Given the description of an element on the screen output the (x, y) to click on. 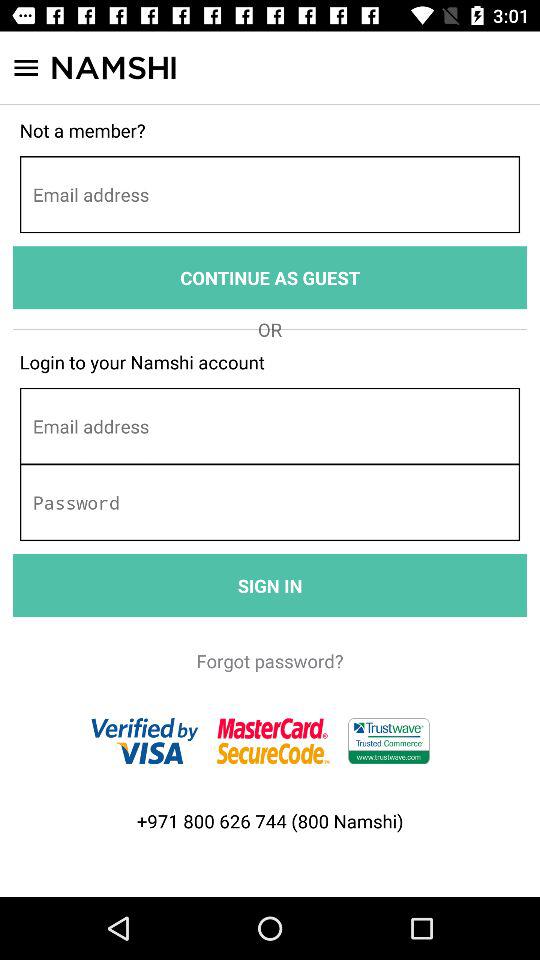
open icon above the or icon (269, 277)
